Given the description of an element on the screen output the (x, y) to click on. 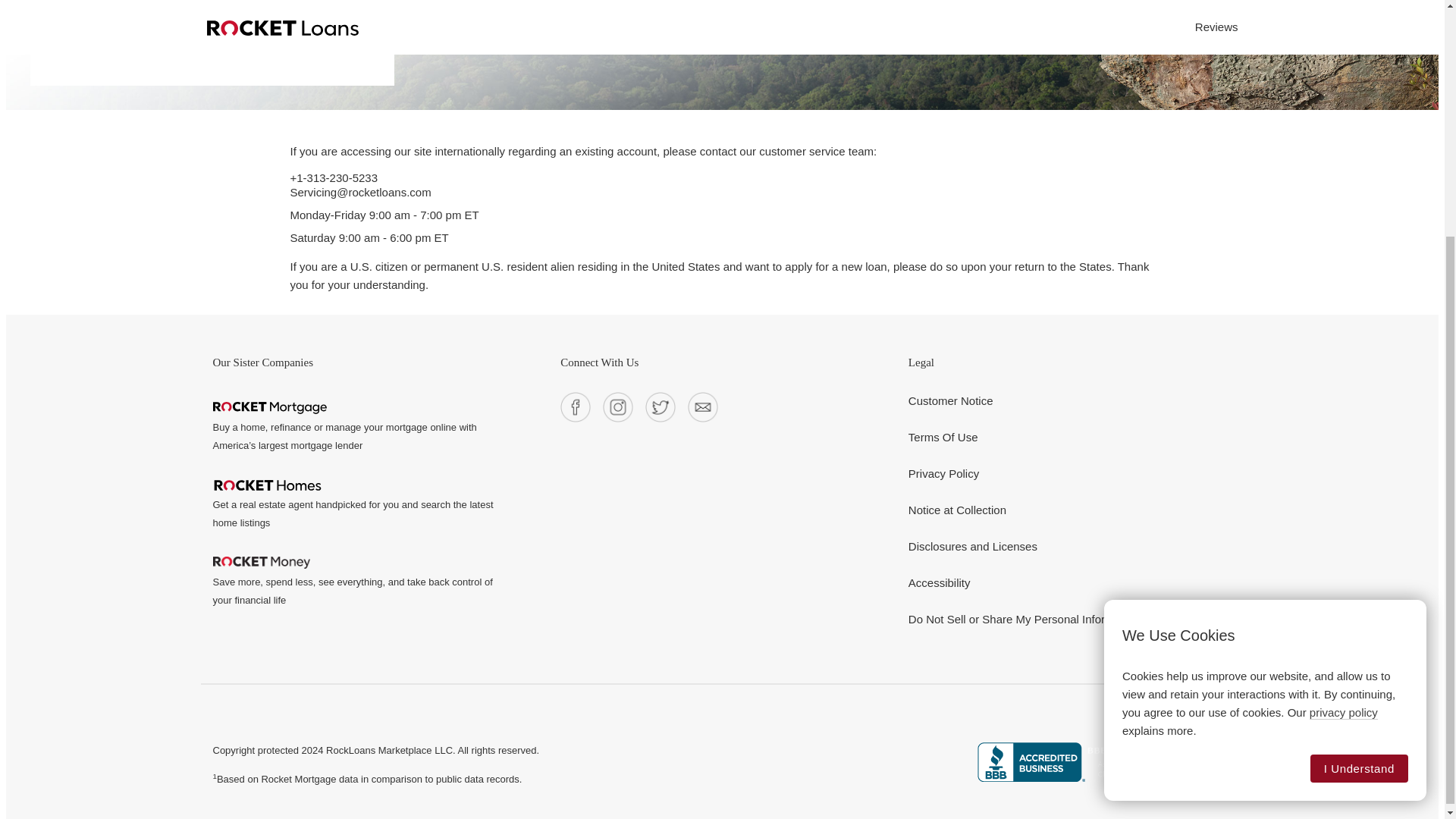
Rocket Money (260, 562)
Terms Of Use (943, 437)
Rocket Homes (266, 485)
Equal Housing (1205, 761)
Do Not Sell or Share My Personal Information (1023, 619)
I Understand (1358, 442)
Disclosures and Licenses (972, 546)
Rocket Mortgage (269, 408)
Accessibility (939, 582)
Rocket Loans BBB Business Review (1071, 762)
Customer Notice (950, 400)
Privacy Policy (943, 473)
privacy policy (1342, 386)
Notice at Collection (957, 509)
